Given the description of an element on the screen output the (x, y) to click on. 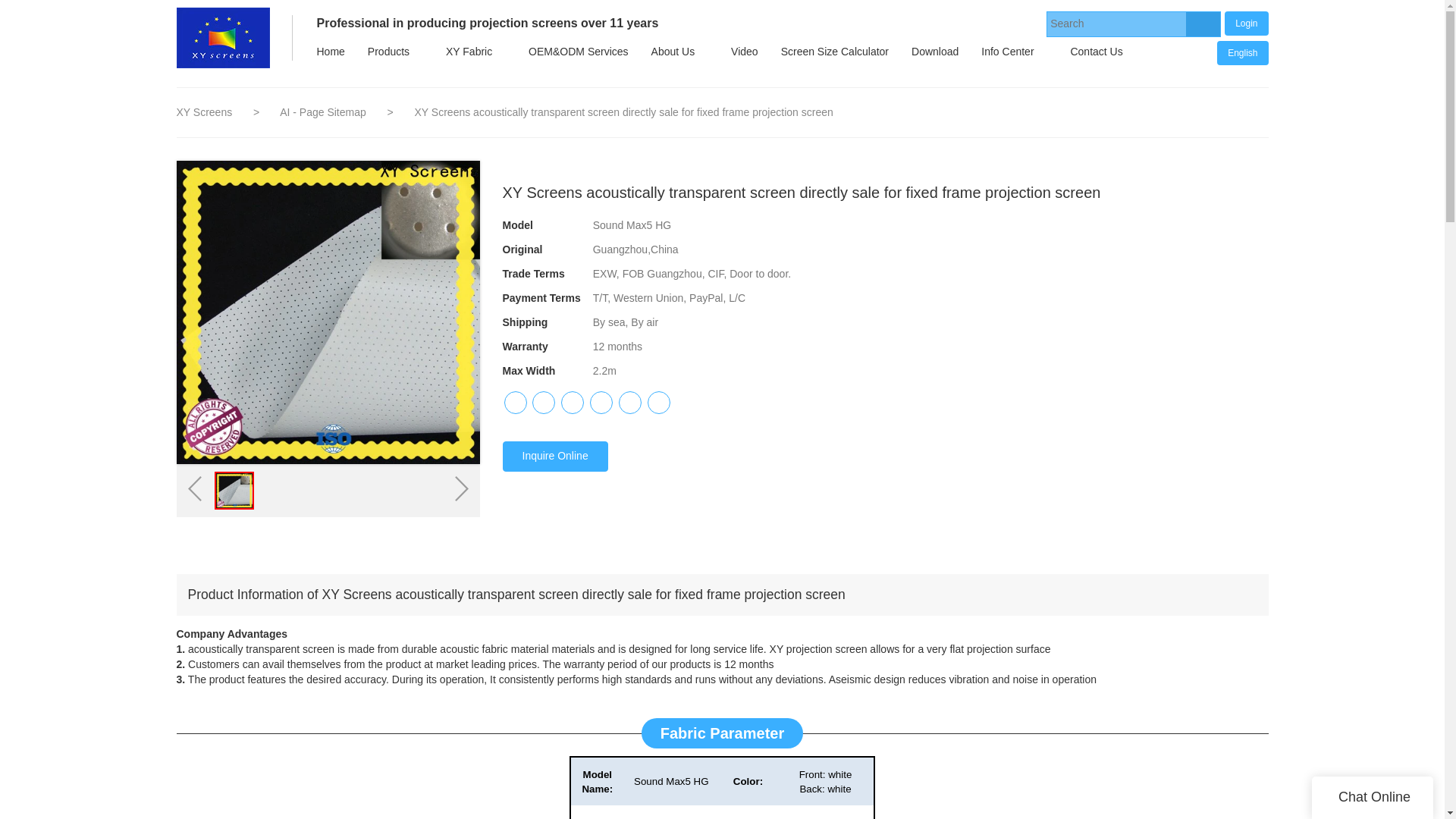
Video (744, 51)
XY Fabric (468, 51)
About Us (673, 51)
Home (329, 51)
Products (388, 51)
Login (1245, 23)
Screen Size Calculator (834, 51)
